Given the description of an element on the screen output the (x, y) to click on. 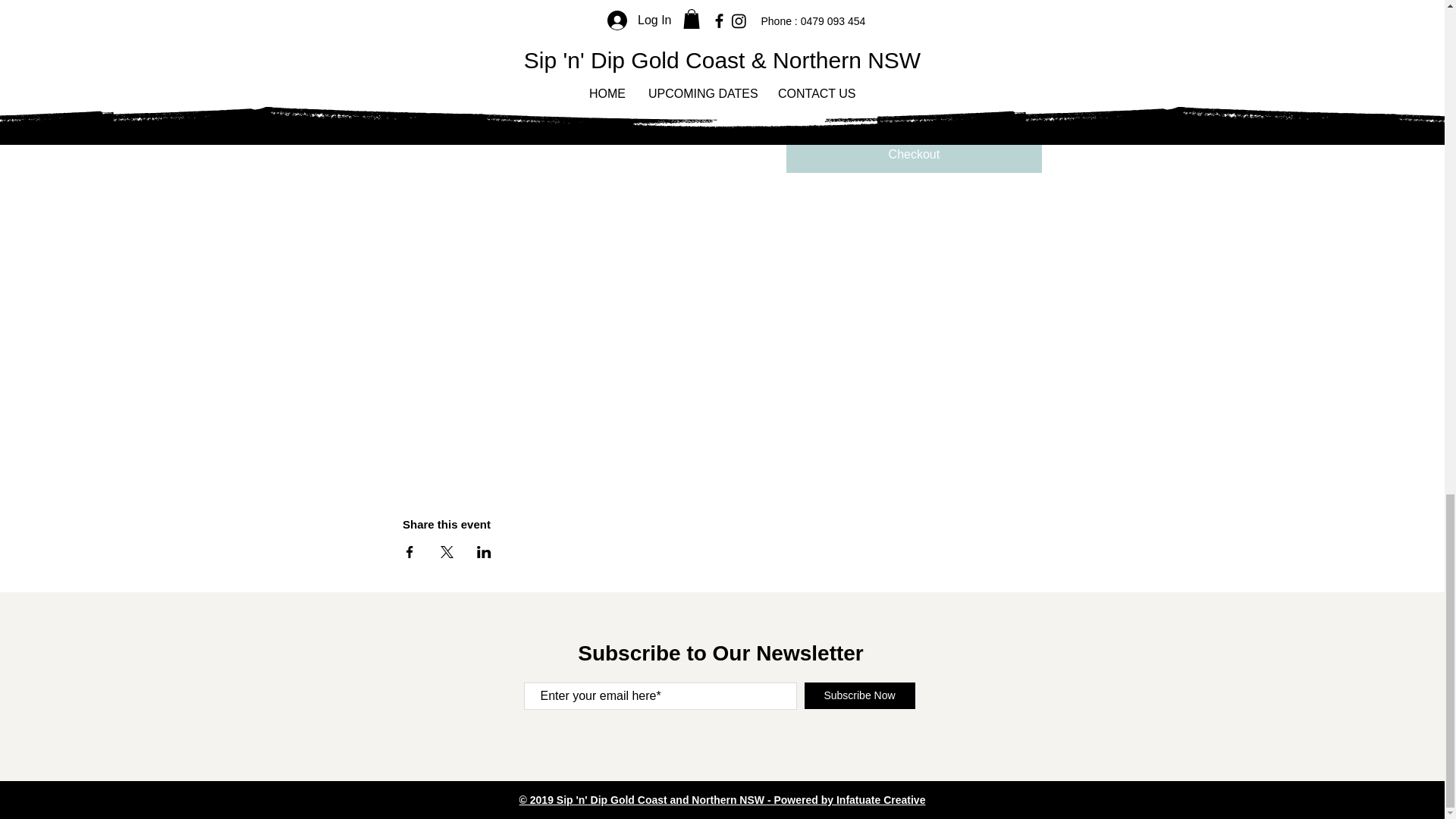
Checkout (914, 154)
Subscribe Now (858, 695)
More info (434, 50)
